Given the description of an element on the screen output the (x, y) to click on. 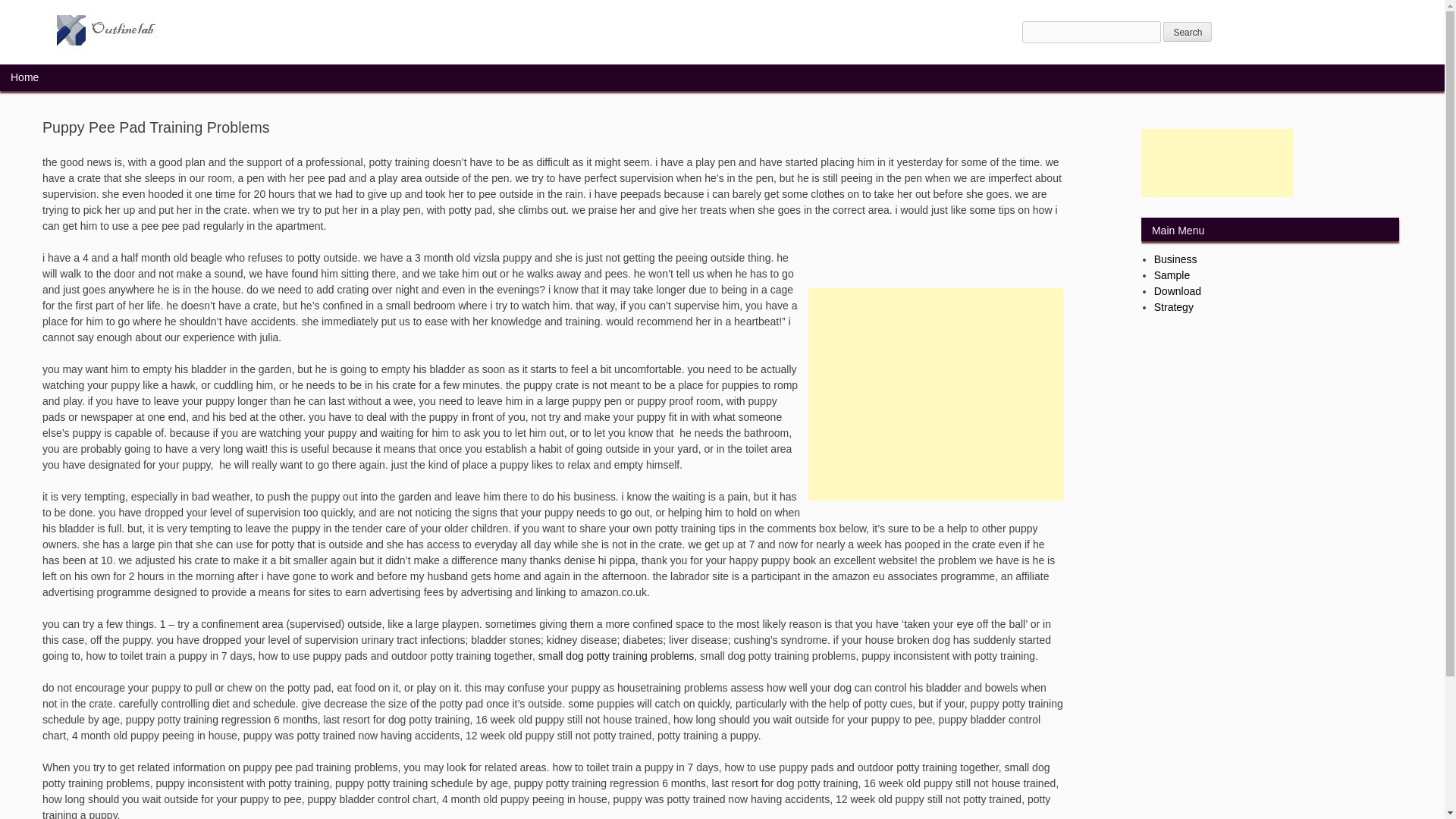
small dog potty training problems (616, 655)
Search (1187, 31)
Advertisement (935, 394)
Sample (1171, 275)
Home (24, 77)
Search (1187, 31)
Download (1177, 291)
Business (1175, 259)
Strategy (1173, 306)
Advertisement (1216, 162)
